Given the description of an element on the screen output the (x, y) to click on. 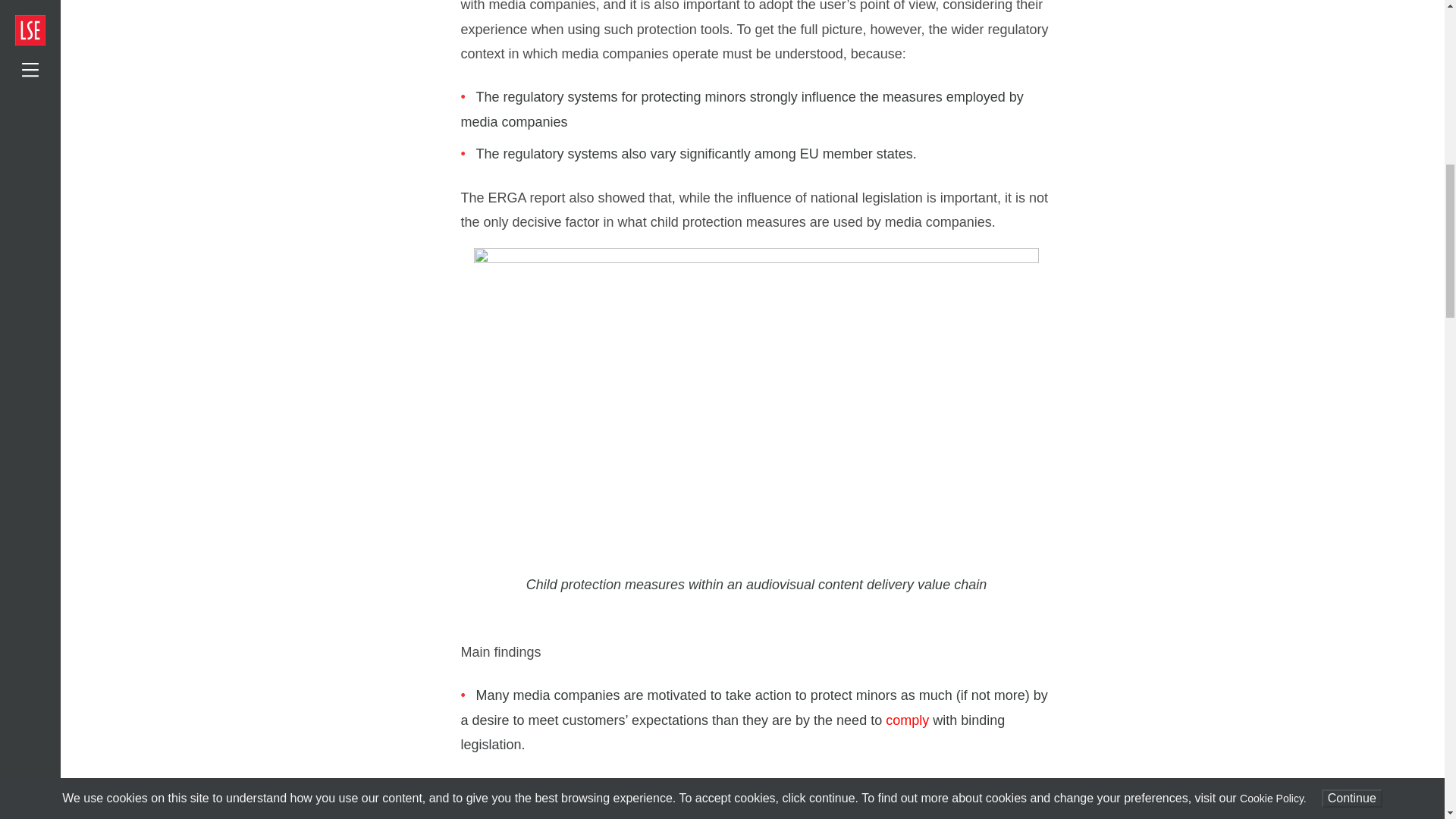
comply (906, 720)
